Given the description of an element on the screen output the (x, y) to click on. 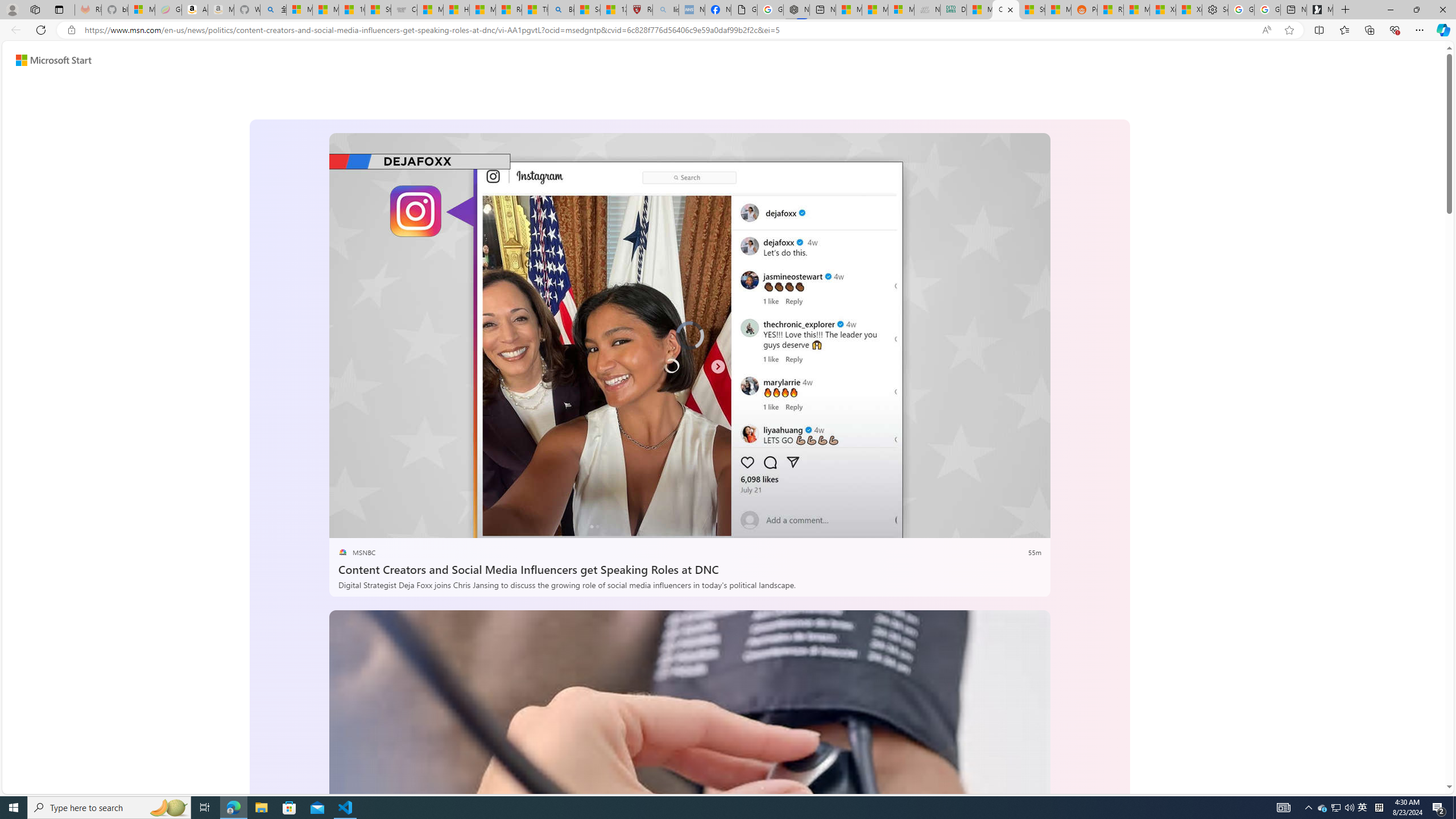
Fullscreen (1011, 525)
